Given the description of an element on the screen output the (x, y) to click on. 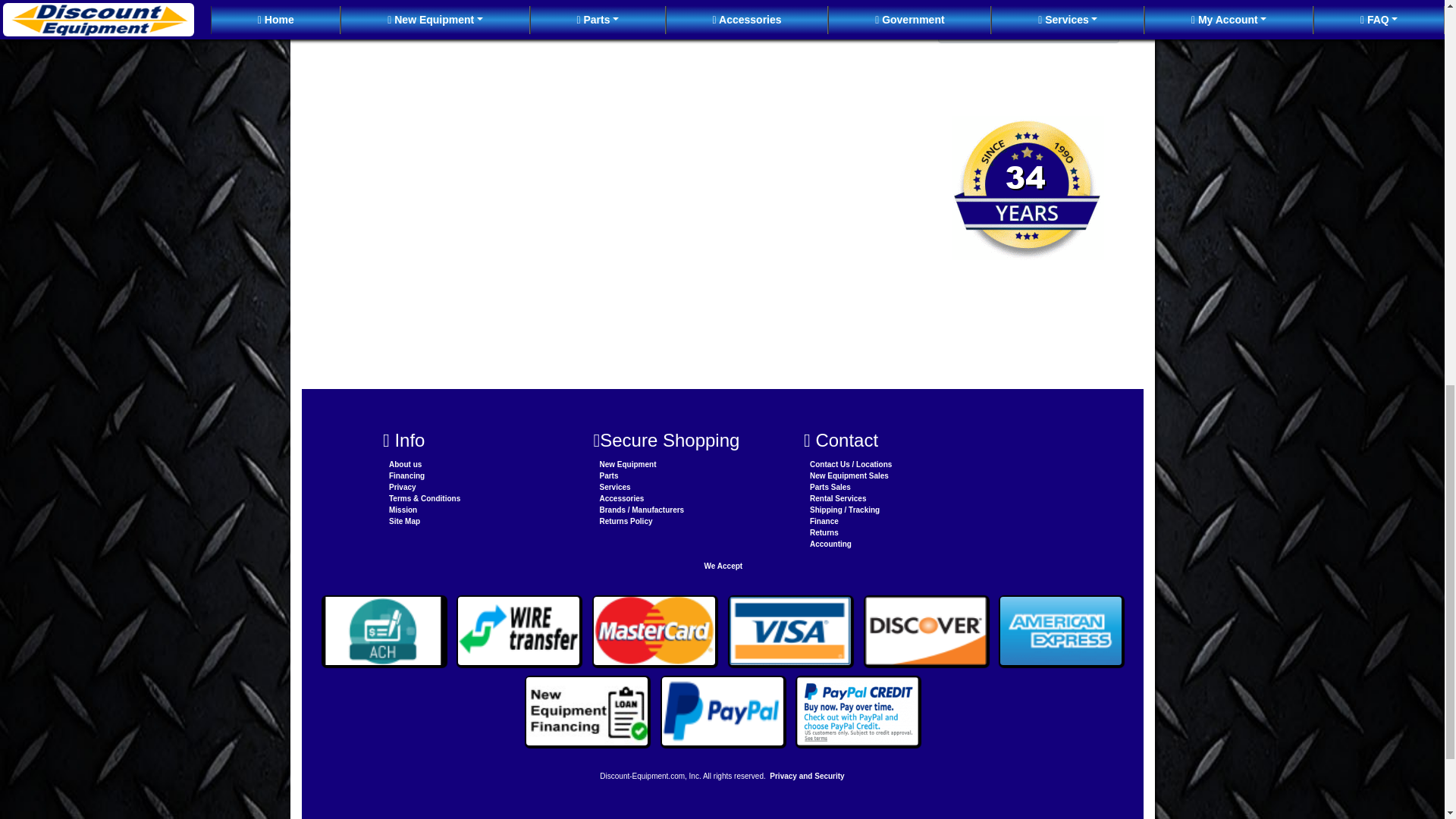
Over 32 Years of Serving the Industry (1027, 188)
